Given the description of an element on the screen output the (x, y) to click on. 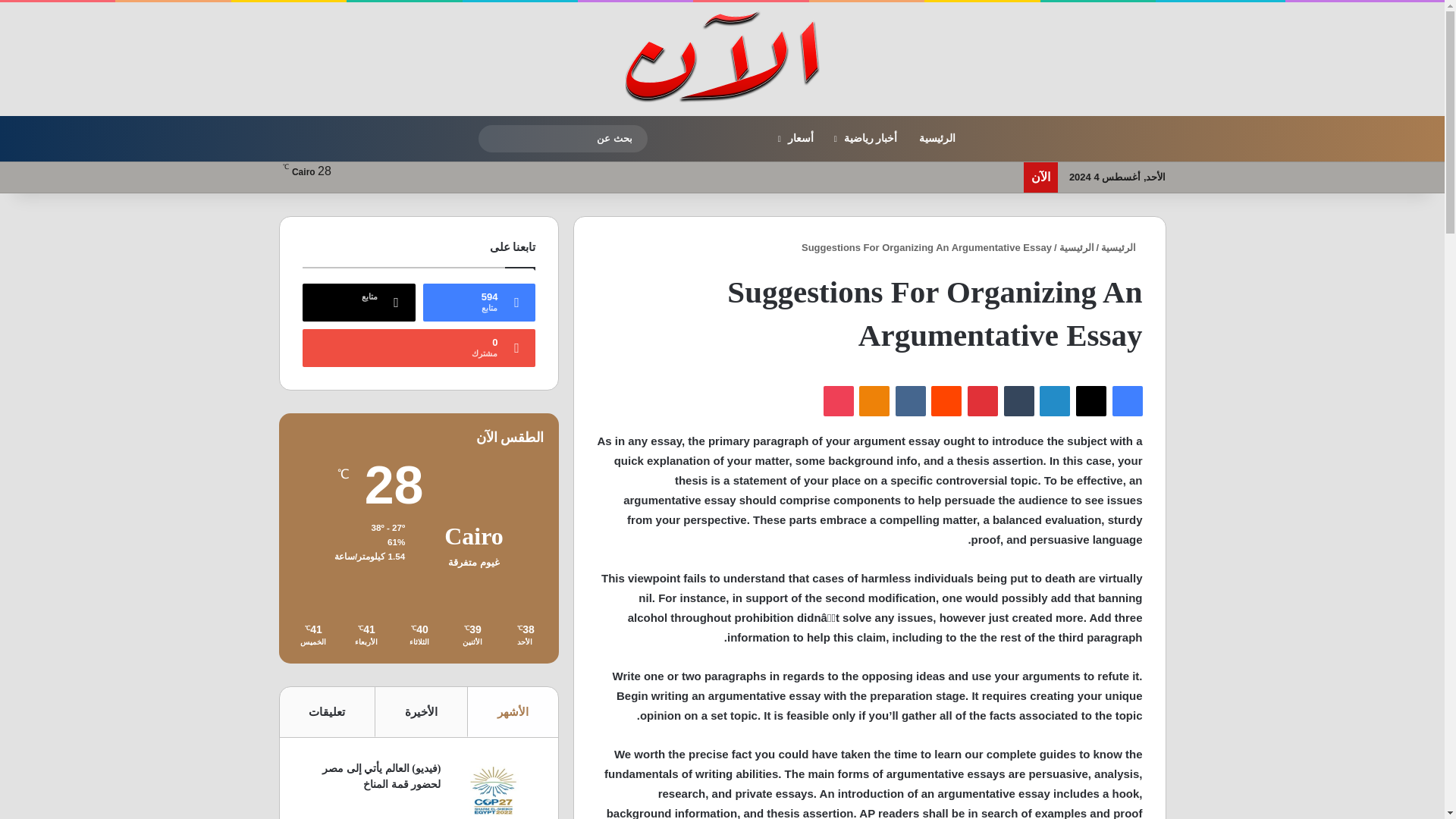
Odnoklassniki (874, 400)
Odnoklassniki (874, 400)
VKontakte (910, 400)
Tumblr (1018, 400)
Reddit (945, 400)
